Given the description of an element on the screen output the (x, y) to click on. 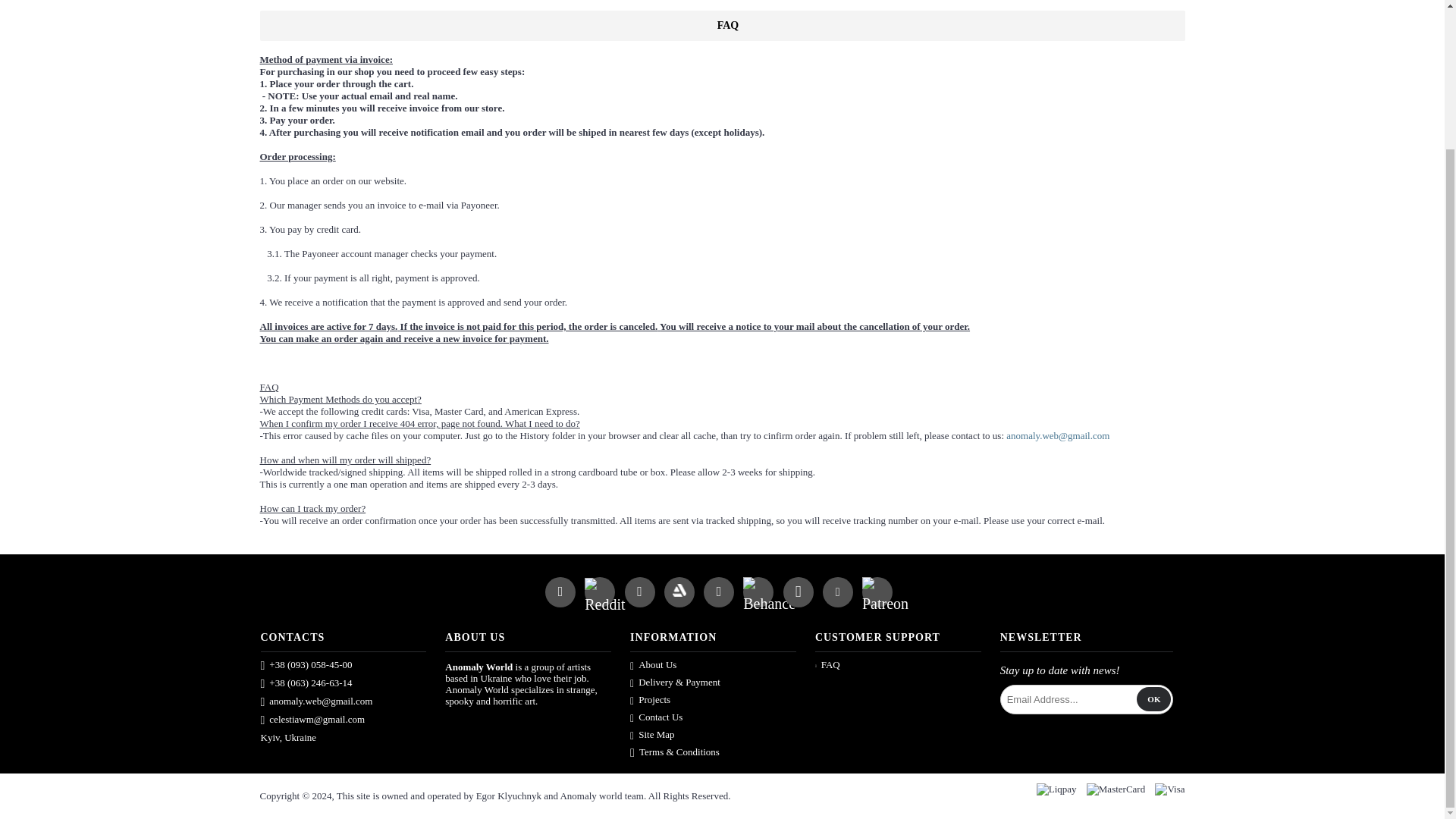
Reddit (604, 598)
Behance (768, 598)
Artstation (678, 592)
Patreon (884, 598)
